Given the description of an element on the screen output the (x, y) to click on. 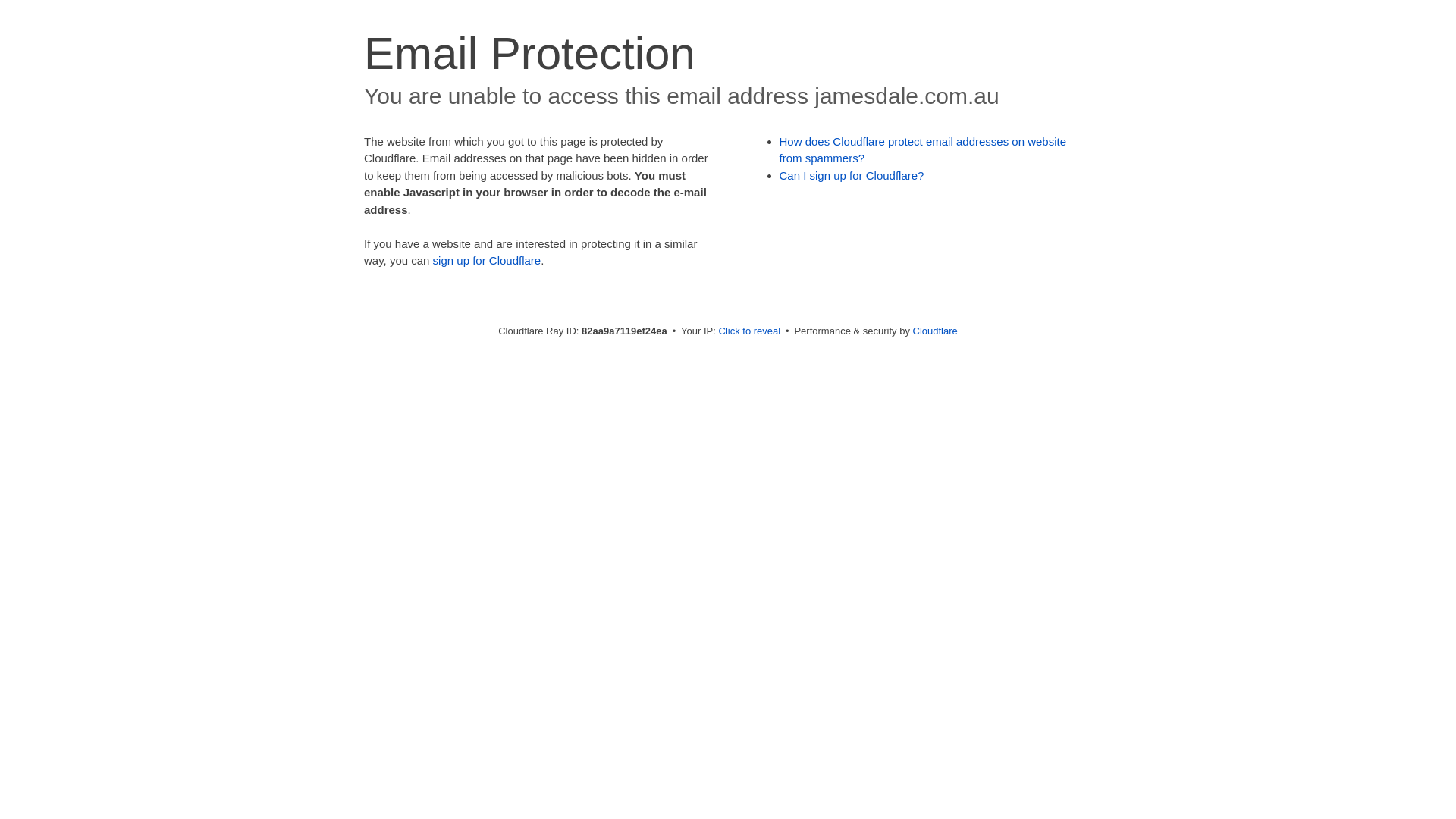
Can I sign up for Cloudflare? Element type: text (851, 175)
Click to reveal Element type: text (749, 330)
Cloudflare Element type: text (935, 330)
sign up for Cloudflare Element type: text (487, 260)
